Given the description of an element on the screen output the (x, y) to click on. 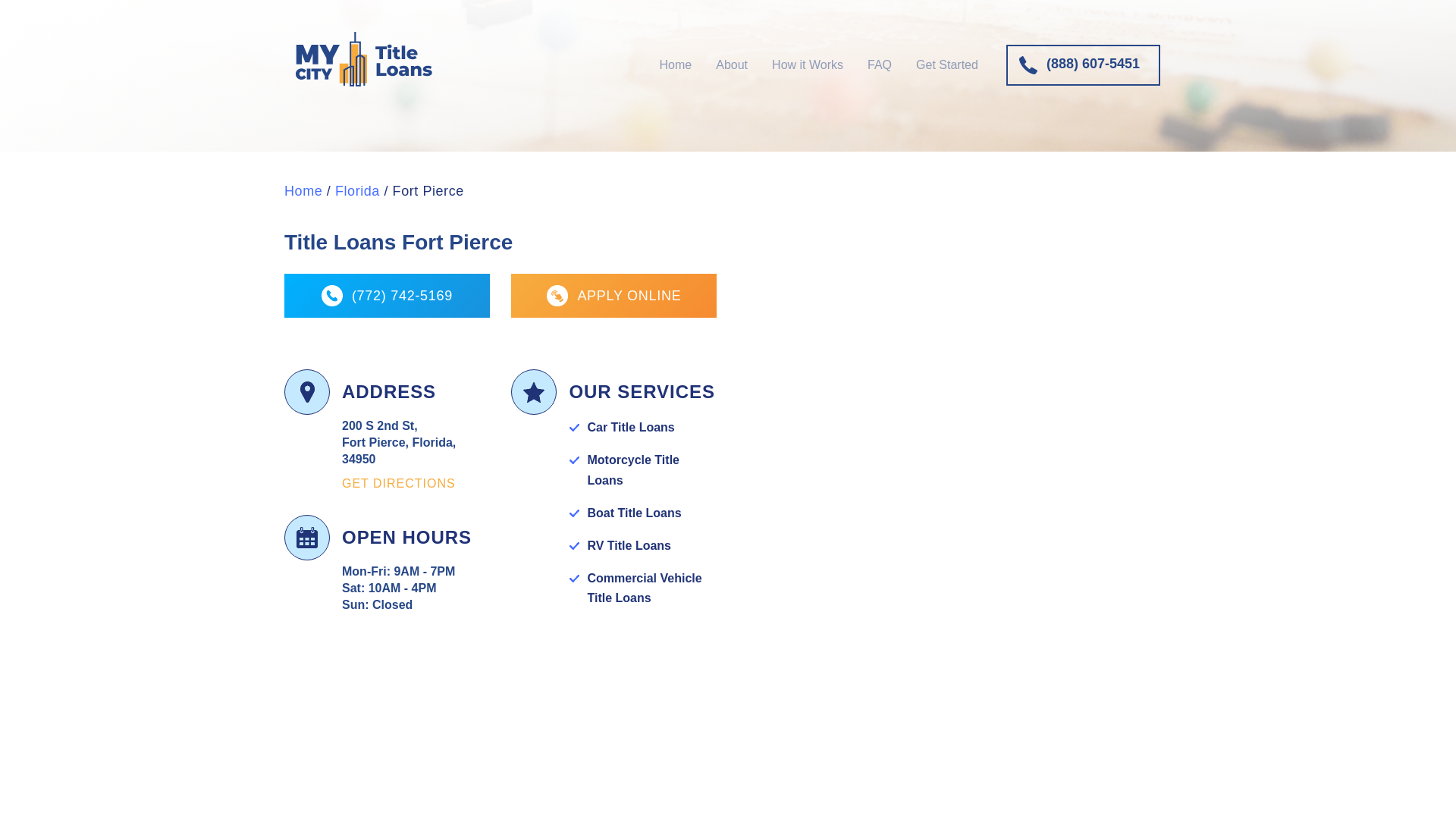
Home (302, 191)
How it Works (807, 64)
About (731, 64)
Florida (357, 191)
FAQ (879, 64)
Get Started (947, 64)
APPLY ONLINE (613, 295)
logo-v3 (364, 58)
Home (675, 64)
GET DIRECTIONS (398, 482)
